Given the description of an element on the screen output the (x, y) to click on. 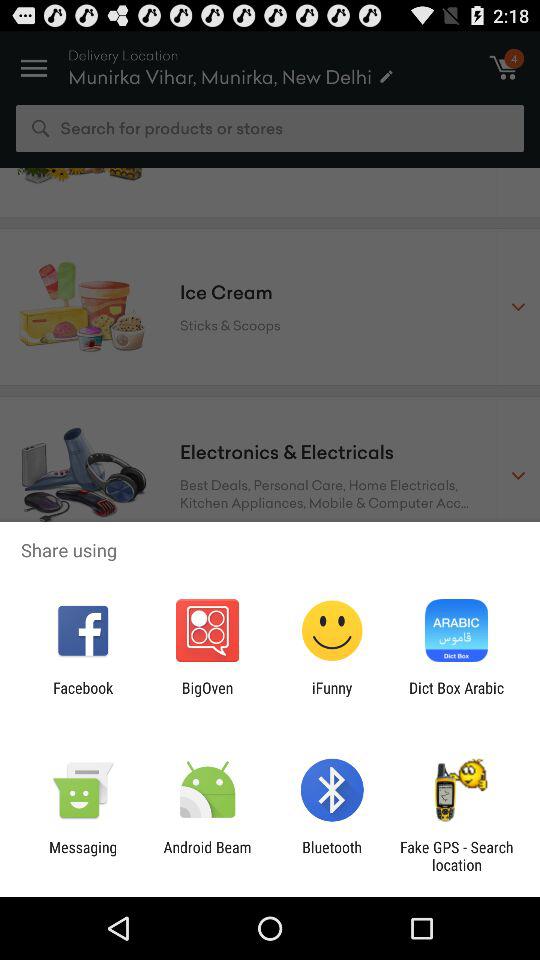
turn off icon to the right of android beam icon (331, 856)
